Given the description of an element on the screen output the (x, y) to click on. 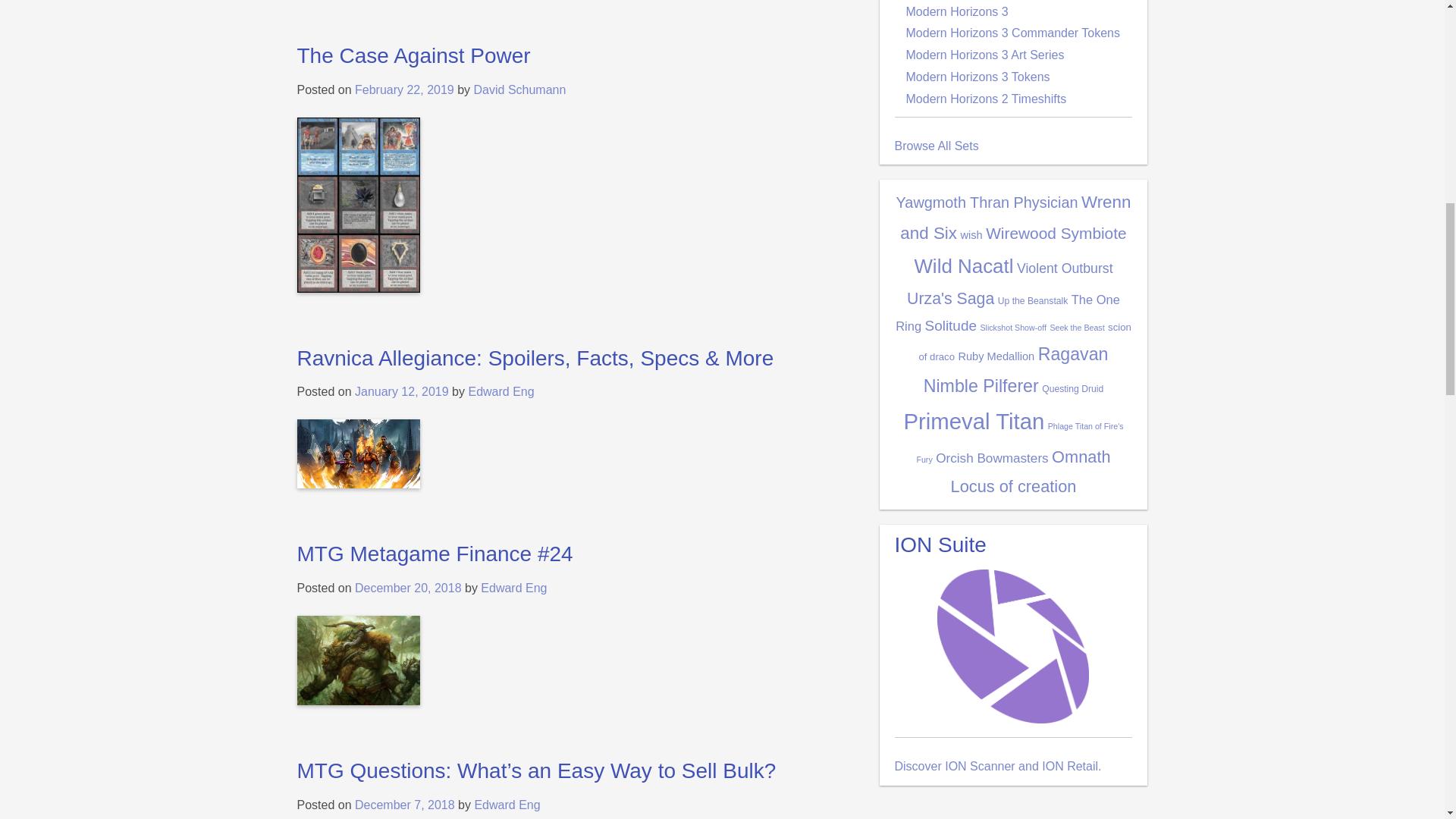
The Case Against Power (414, 55)
